Given the description of an element on the screen output the (x, y) to click on. 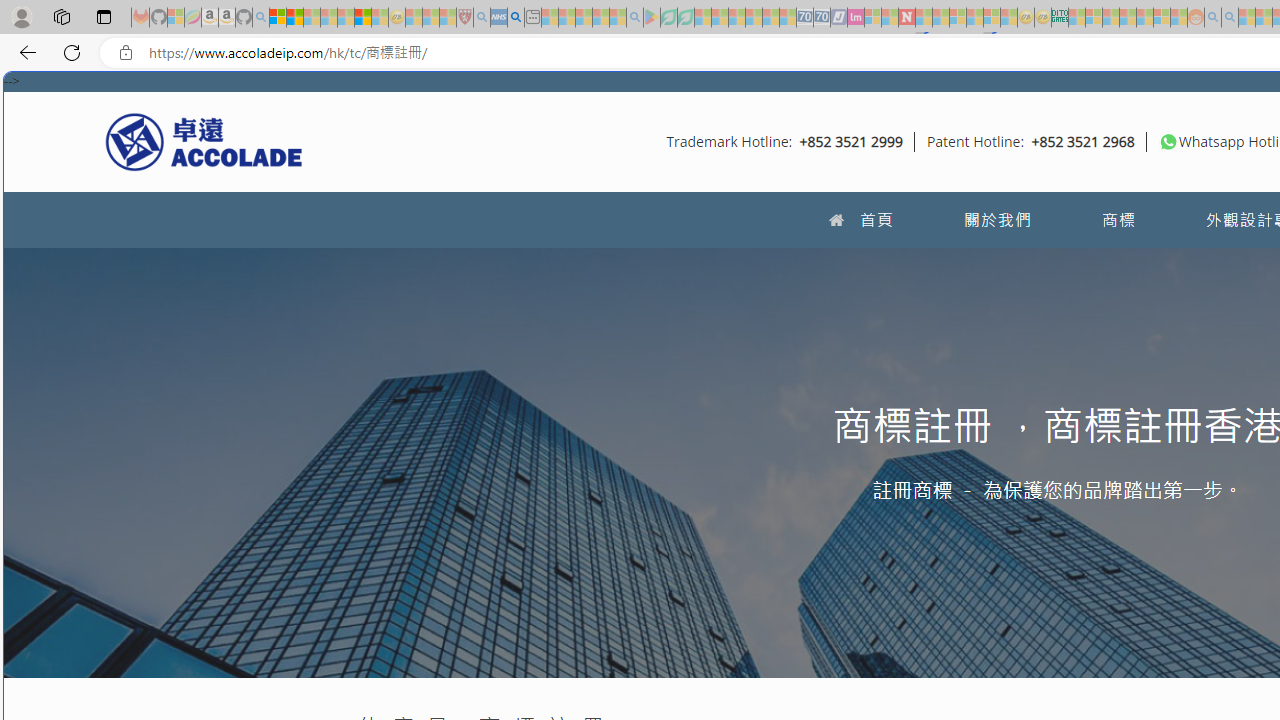
Cheap Hotels - Save70.com - Sleeping (821, 17)
14 Common Myths Debunked By Scientific Facts - Sleeping (940, 17)
Expert Portfolios - Sleeping (1128, 17)
